Given the description of an element on the screen output the (x, y) to click on. 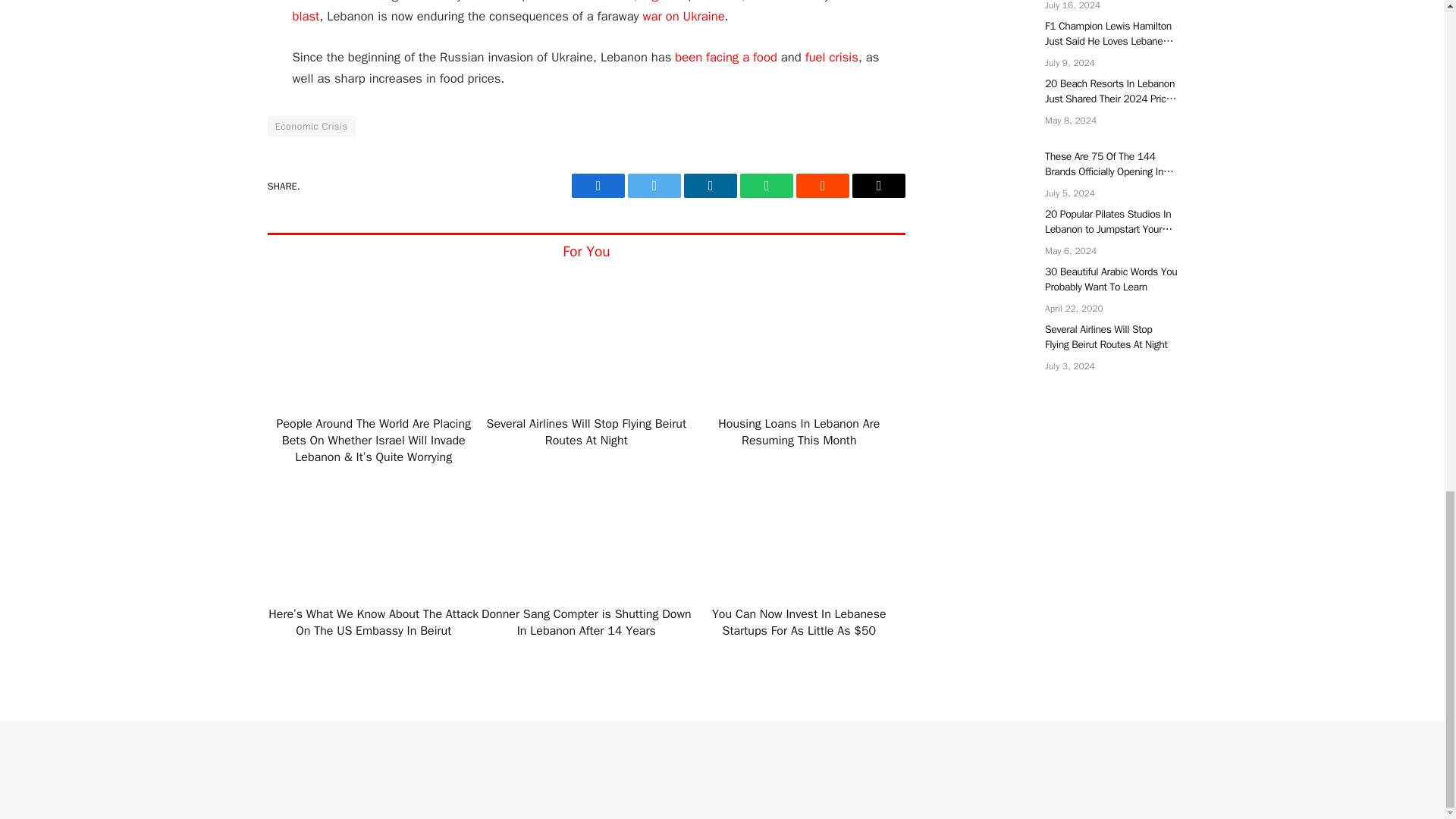
Economic Crisis (310, 126)
Share on Facebook (598, 185)
fuel crisis (832, 57)
economic crisis (590, 1)
Share on Reddit (822, 185)
been facing a food (726, 57)
Twitter (654, 185)
Beirut blast (579, 12)
Share via Email (878, 185)
global pandemic (696, 1)
Share on LinkedIn (710, 185)
Facebook (598, 185)
Share on WhatsApp (766, 185)
war on Ukraine (684, 16)
